Given the description of an element on the screen output the (x, y) to click on. 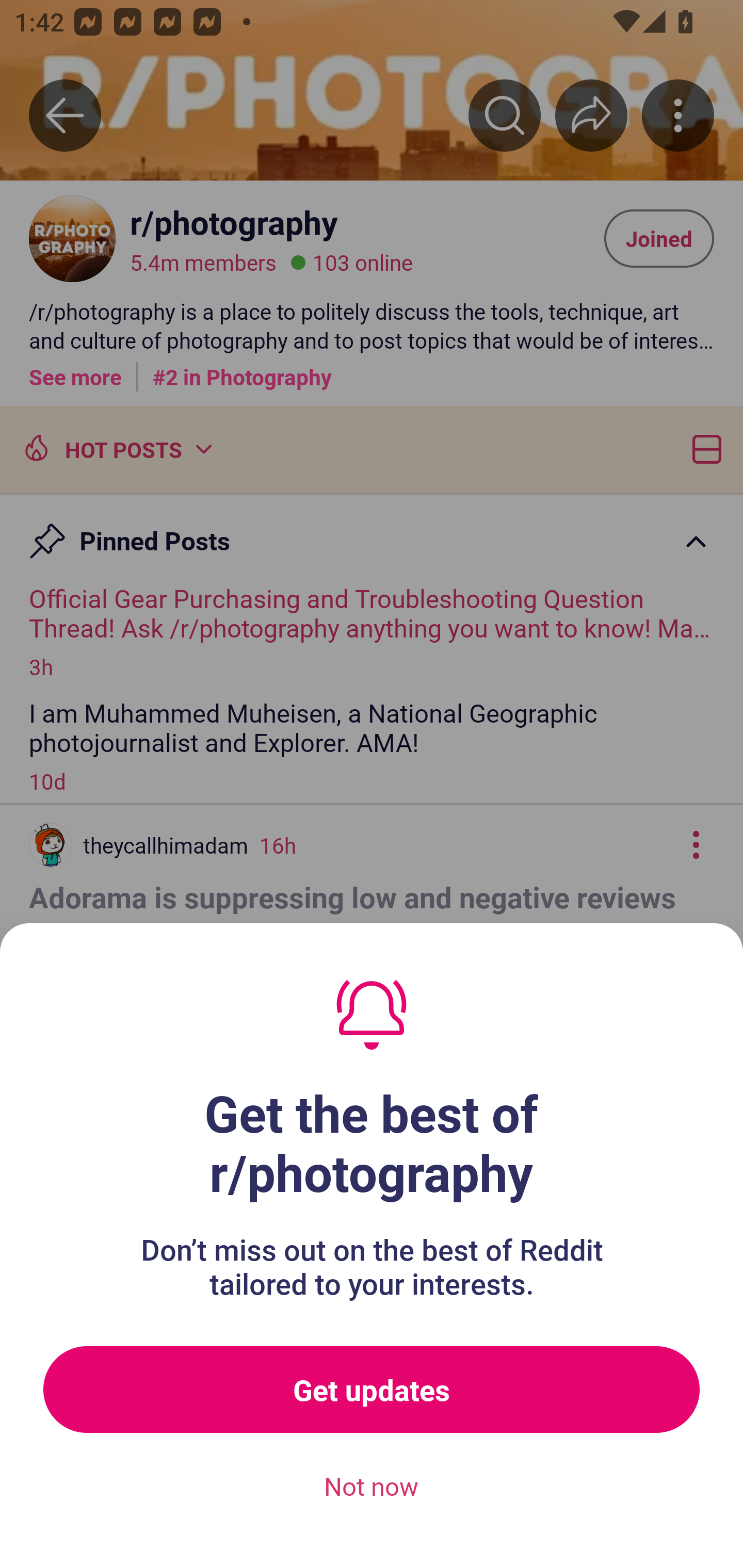
Get updates (371, 1389)
Not now (371, 1486)
